Given the description of an element on the screen output the (x, y) to click on. 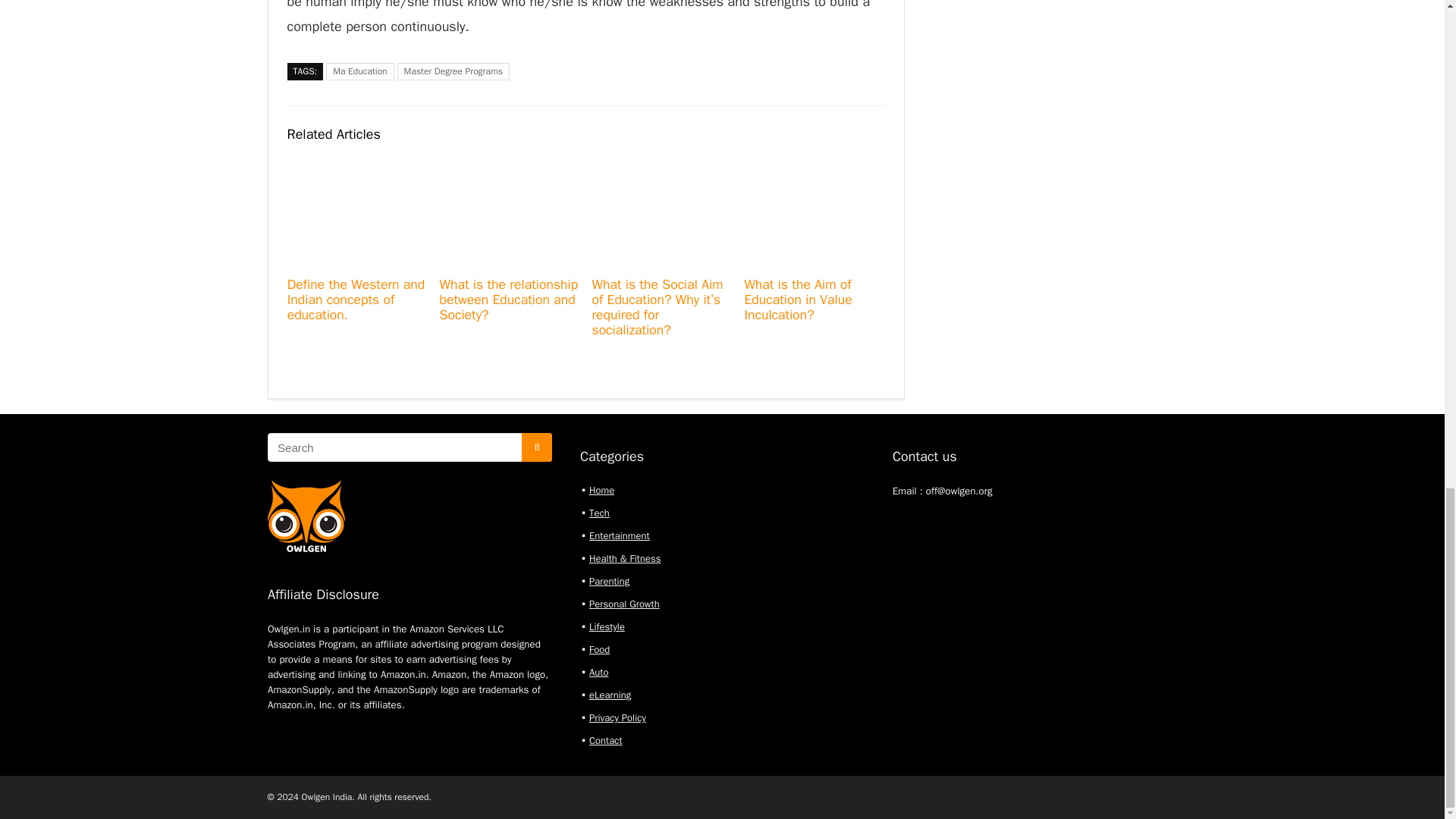
What is the Aim of Education in Value Inculcation? (797, 299)
Ma Education (359, 71)
Define the Western and Indian concepts of education. (355, 299)
Master Degree Programs (453, 71)
What is the relationship between Education and Society? (508, 299)
